Given the description of an element on the screen output the (x, y) to click on. 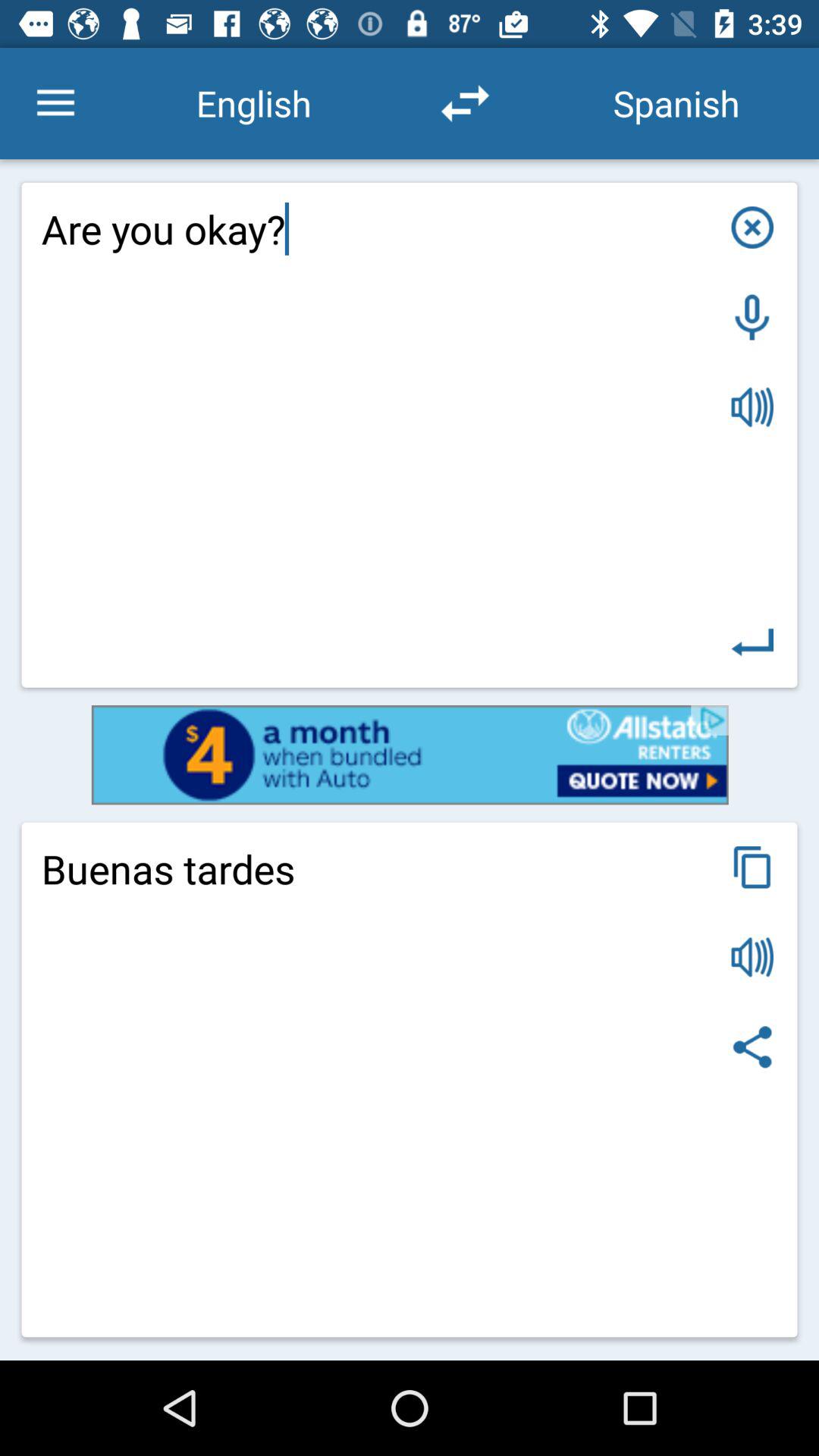
open advertisement (409, 754)
